Given the description of an element on the screen output the (x, y) to click on. 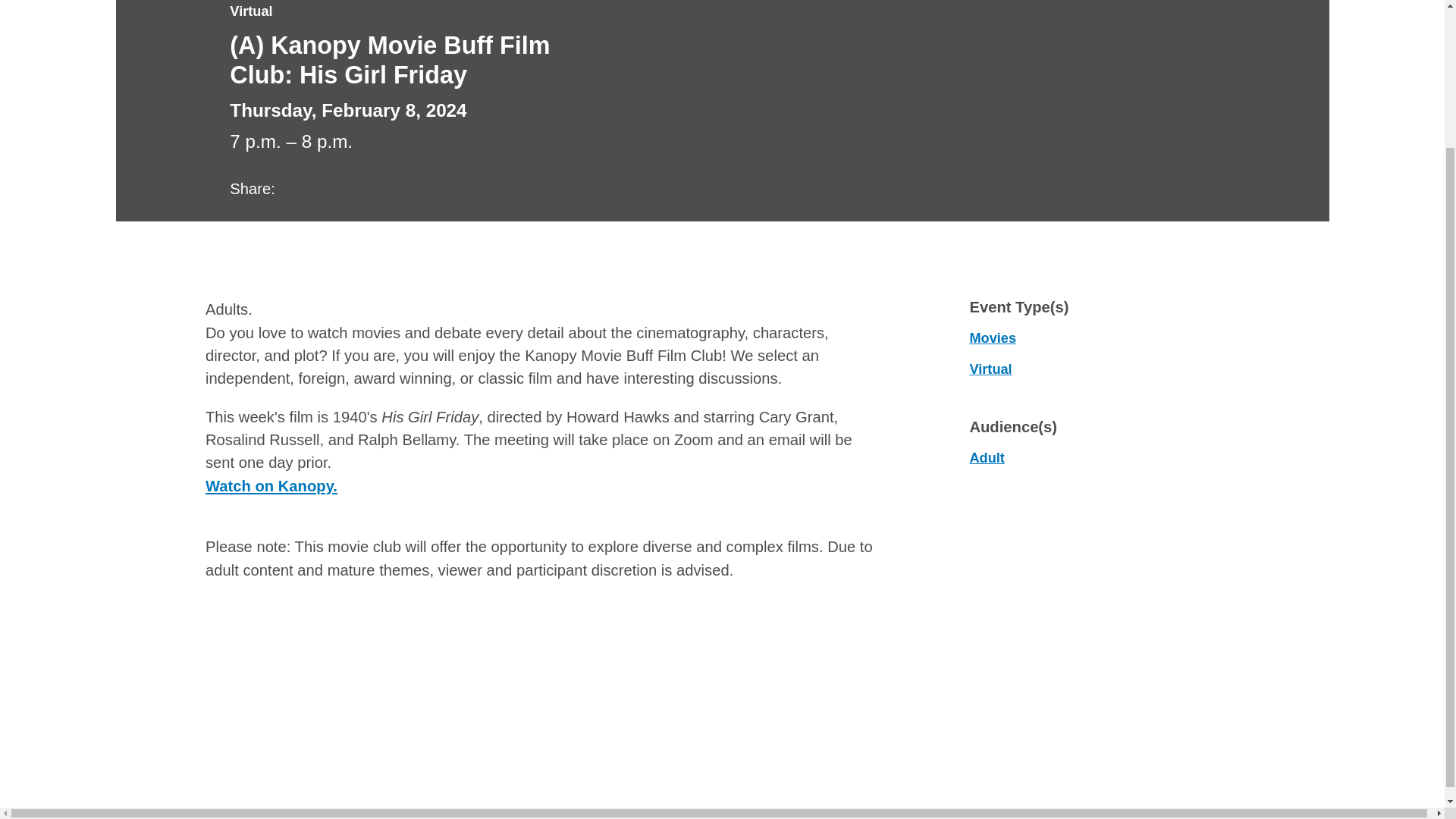
Adult (986, 458)
Share on Twitter (321, 186)
Watch on Kanopy. (271, 485)
Movies (992, 337)
Log in (1149, 68)
Virtual (990, 368)
